Given the description of an element on the screen output the (x, y) to click on. 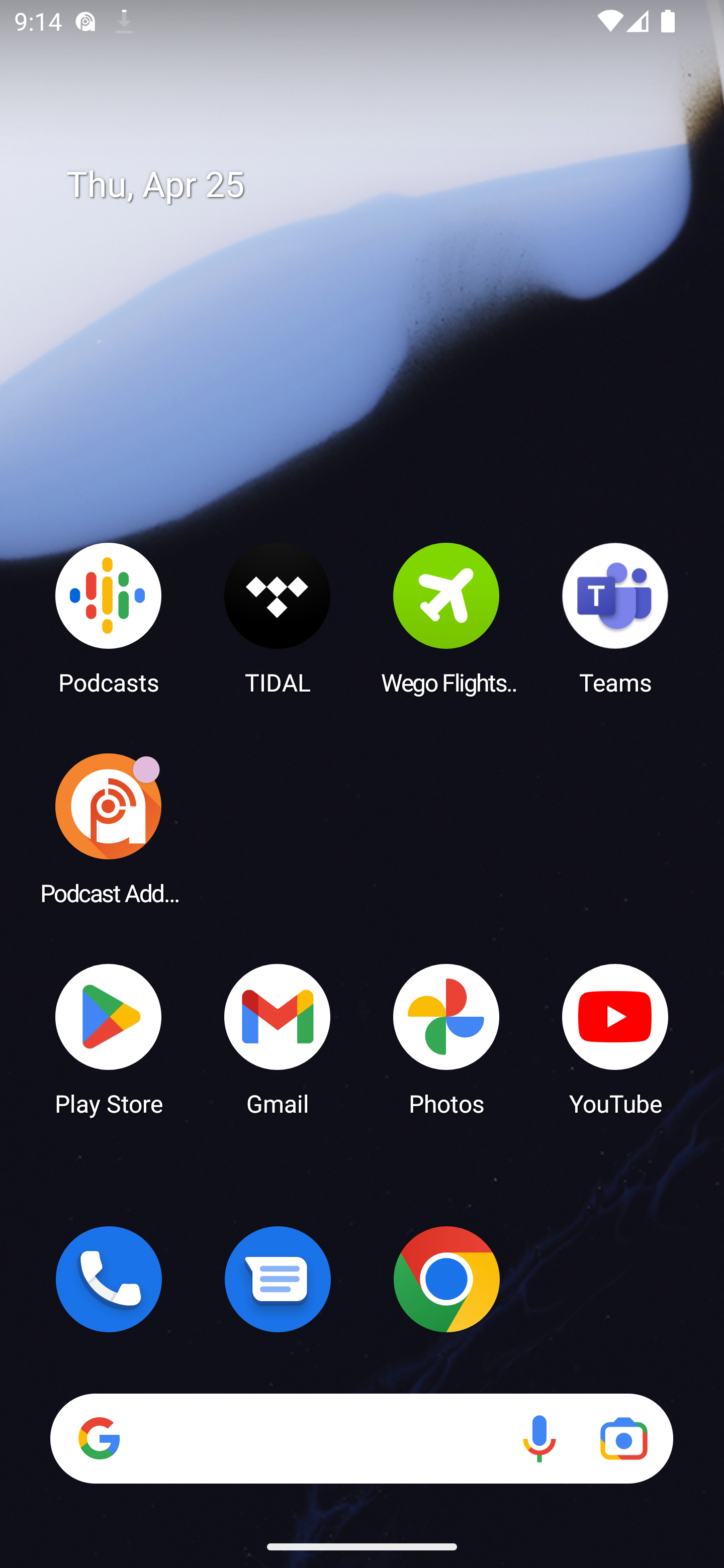
Thu, Apr 25 (375, 184)
Podcasts (108, 617)
TIDAL (277, 617)
Wego Flights & Hotels (445, 617)
Teams (615, 617)
Play Store (108, 1038)
Gmail (277, 1038)
Photos (445, 1038)
YouTube (615, 1038)
Phone (108, 1279)
Messages (277, 1279)
Chrome (446, 1279)
Search Voice search Google Lens (361, 1438)
Voice search (539, 1438)
Google Lens (623, 1438)
